Given the description of an element on the screen output the (x, y) to click on. 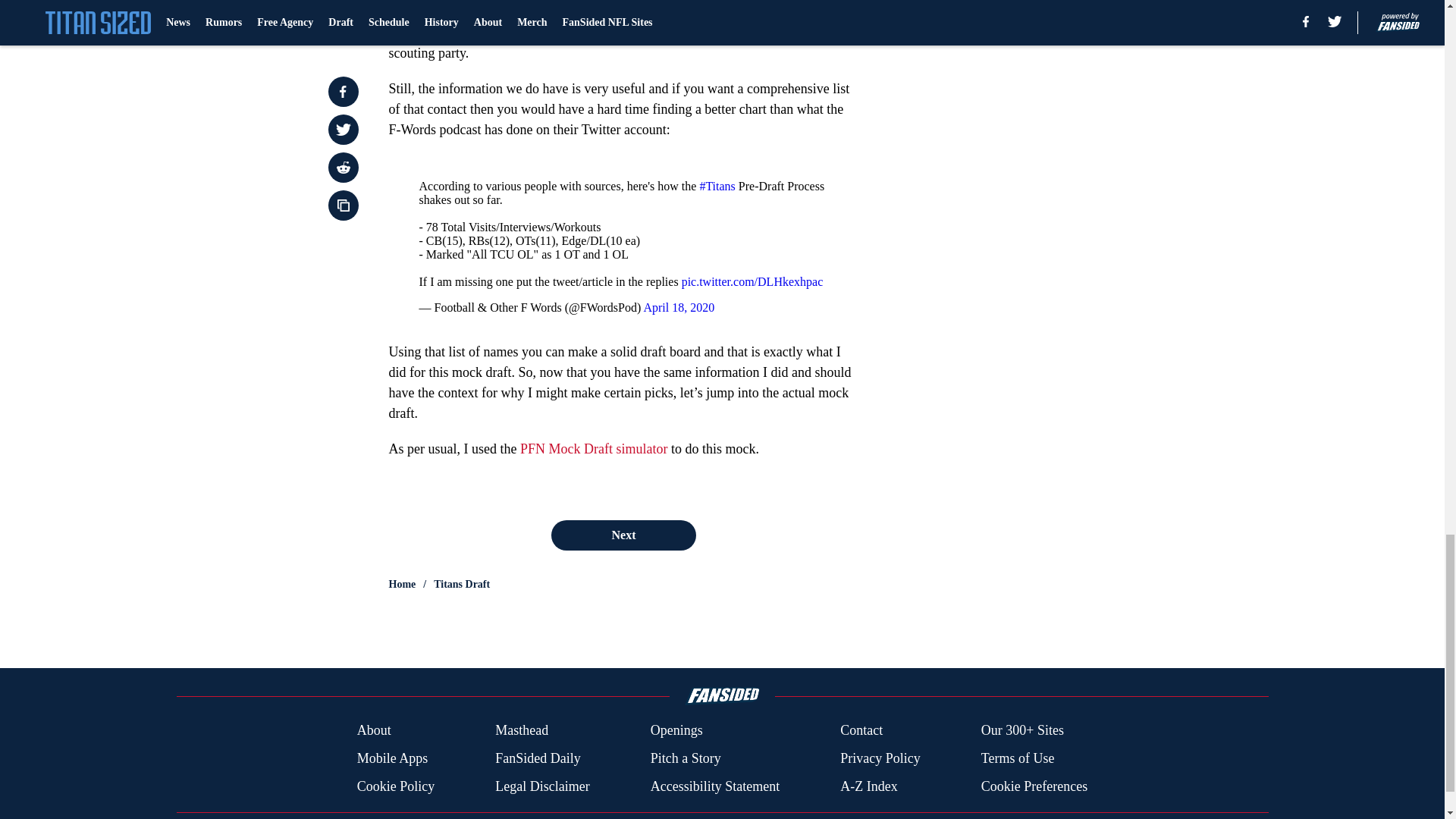
Pitch a Story (685, 758)
Next (622, 535)
Home (401, 584)
PFN Mock Draft simulator (592, 448)
Titans Draft (461, 584)
FanSided Daily (537, 758)
Contact (861, 730)
Masthead (521, 730)
About (373, 730)
Mobile Apps (392, 758)
April 18, 2020 (678, 307)
Openings (676, 730)
